Given the description of an element on the screen output the (x, y) to click on. 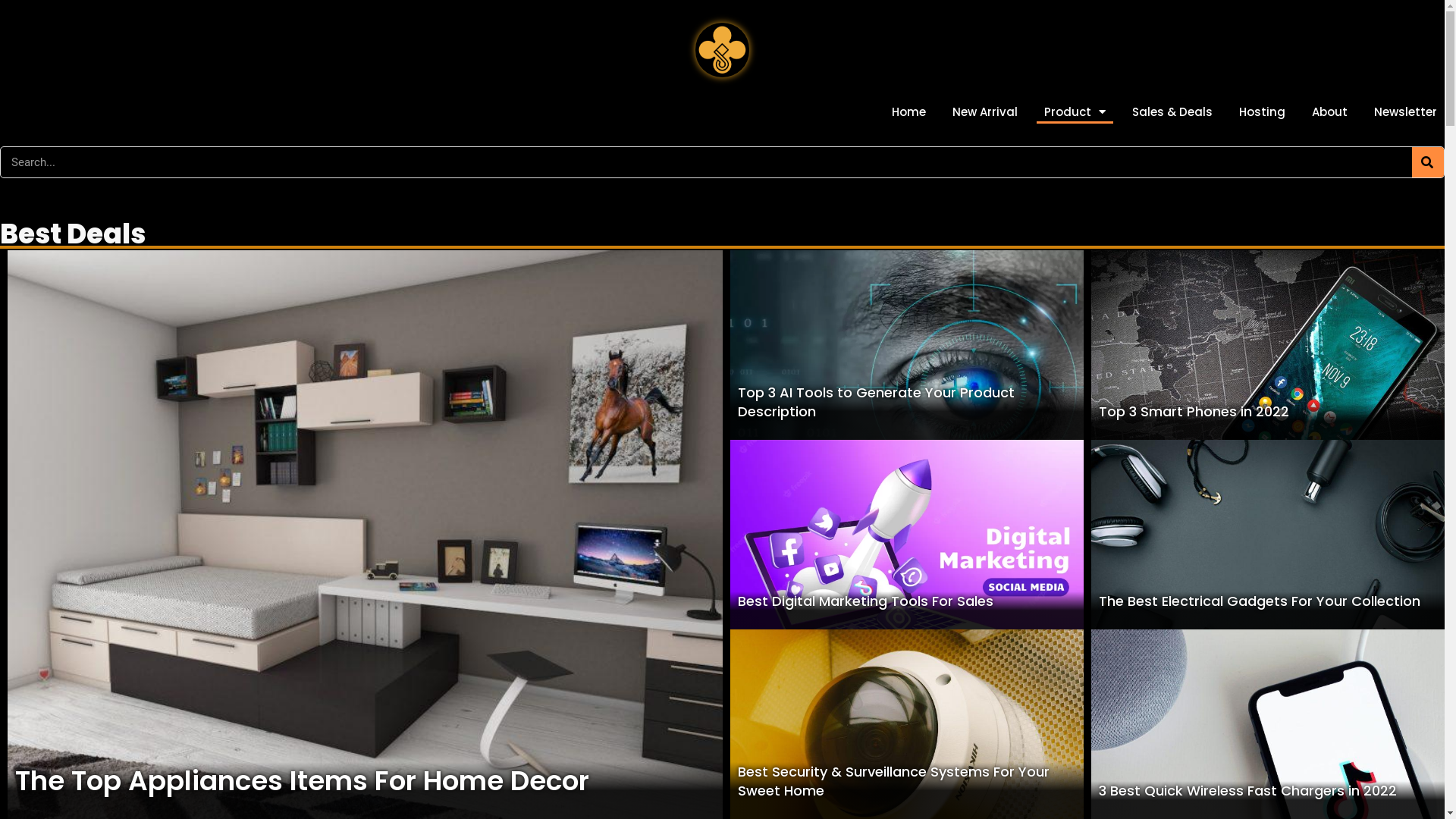
Product Element type: text (1074, 111)
Top 3 Smart Phones in 2022 Element type: text (1193, 410)
Sales & Deals Element type: text (1172, 111)
Home Element type: text (908, 111)
The Top Appliances Items For Home Decor Element type: text (302, 780)
3 Best Quick Wireless Fast Chargers in 2022 Element type: text (1247, 790)
The Best Electrical Gadgets For Your Collection Element type: text (1259, 600)
Hosting Element type: text (1261, 111)
Top 3 AI Tools to Generate Your Product Description Element type: text (875, 401)
Best Security & Surveillance Systems For Your Sweet Home Element type: text (892, 781)
About Element type: text (1329, 111)
Newsletter Element type: text (1405, 111)
Search Element type: hover (1427, 162)
Search Element type: hover (706, 162)
New Arrival Element type: text (984, 111)
Best Digital Marketing Tools For Sales Element type: text (864, 600)
